Given the description of an element on the screen output the (x, y) to click on. 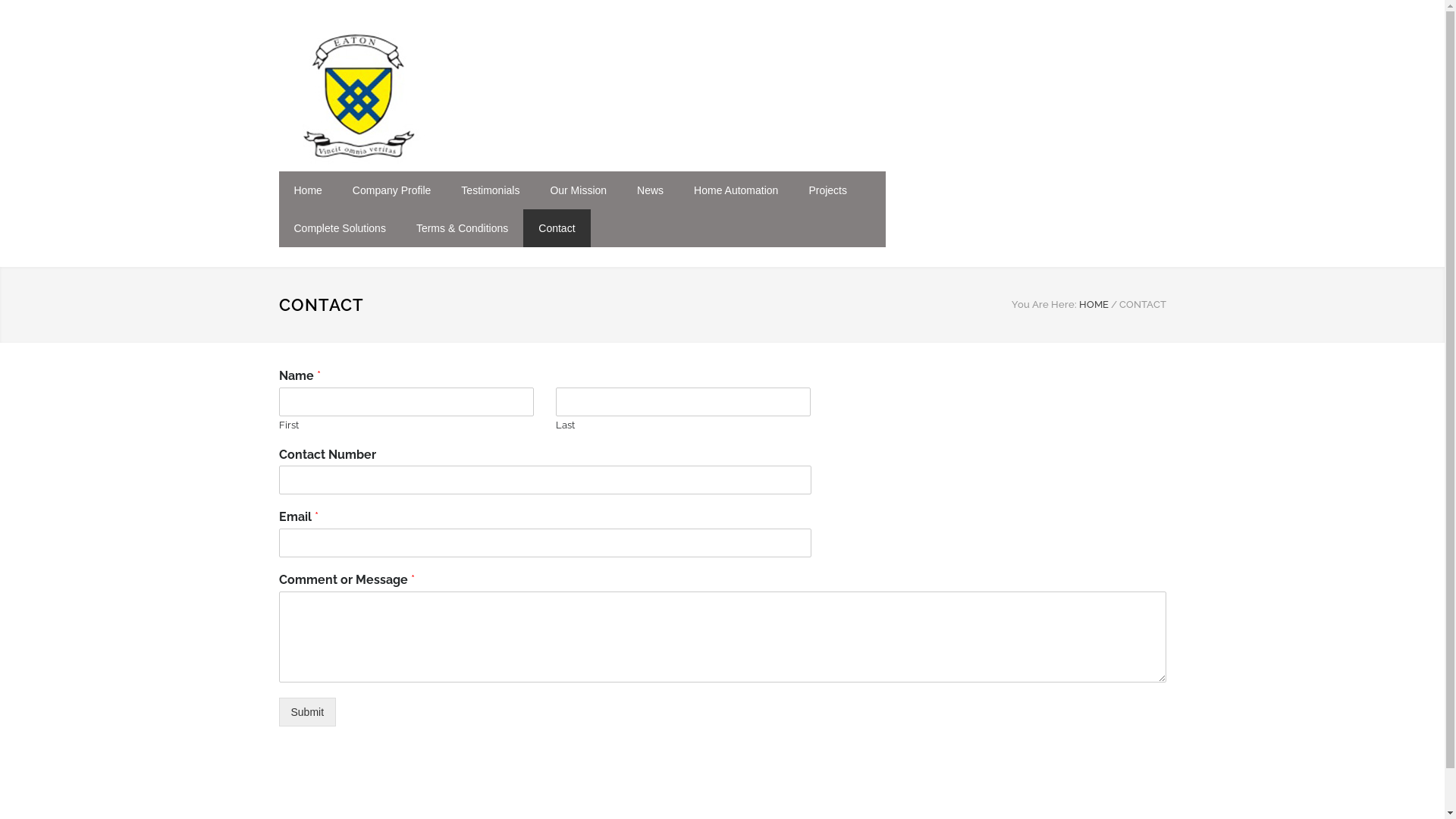
Complete Solutions Element type: text (340, 228)
Terms & Conditions Element type: text (462, 228)
Testimonials Element type: text (489, 190)
Home Element type: text (308, 190)
Our Mission Element type: text (577, 190)
Contact Element type: text (556, 228)
HOME Element type: text (1092, 304)
Submit Element type: text (307, 711)
News Element type: text (649, 190)
Projects Element type: text (827, 190)
Home Automation Element type: text (735, 190)
Company Profile Element type: text (391, 190)
Welcome to Eaton Electrical Group Element type: hover (419, 95)
